Given the description of an element on the screen output the (x, y) to click on. 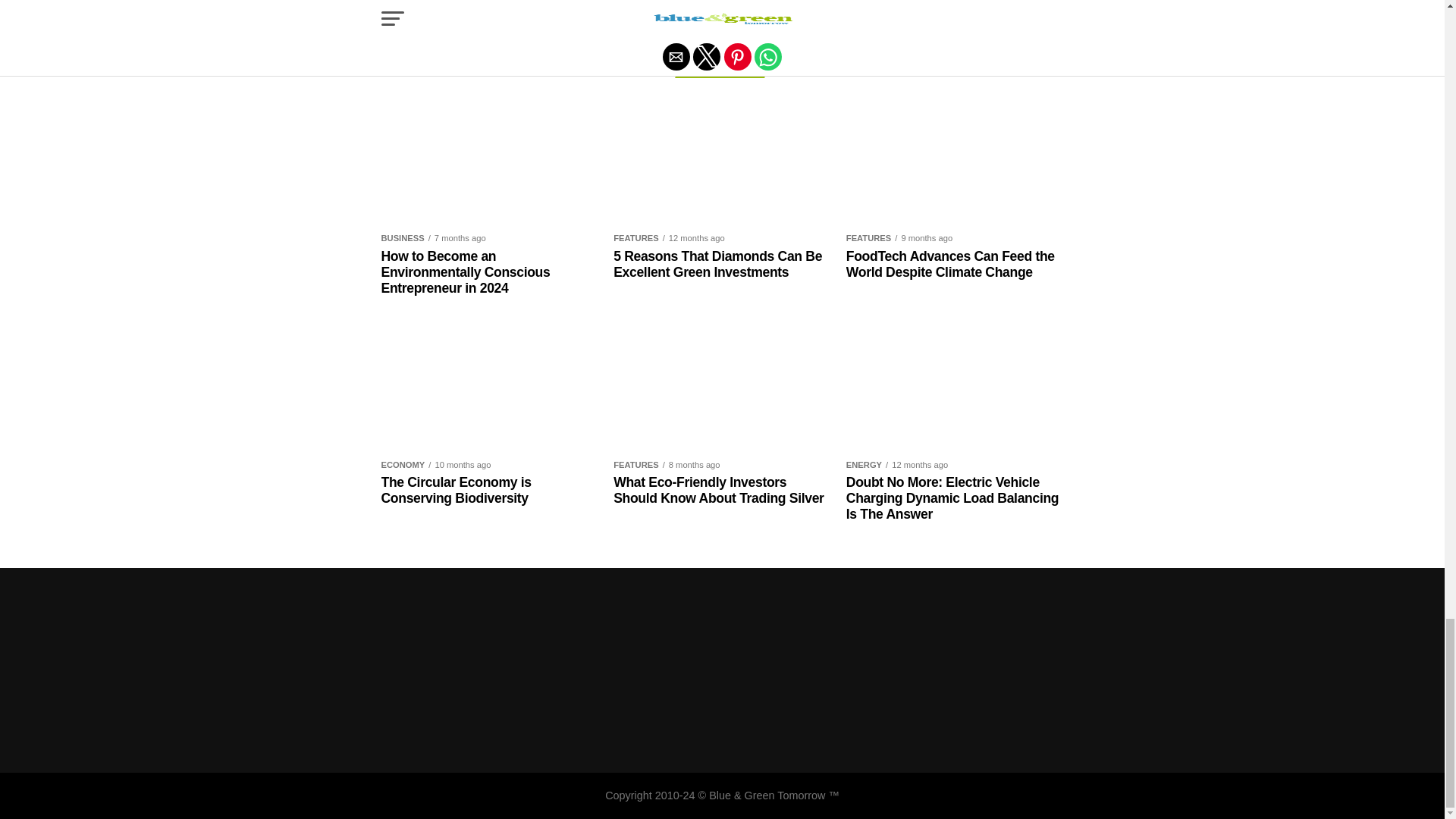
INTERGOVERNMENTAL PANEL ON CLIMATE CHANGE (618, 3)
SCIENCE (874, 3)
UN (917, 3)
GLOBAL WARMING (433, 3)
POLITICS (817, 3)
IPCC (769, 3)
